Given the description of an element on the screen output the (x, y) to click on. 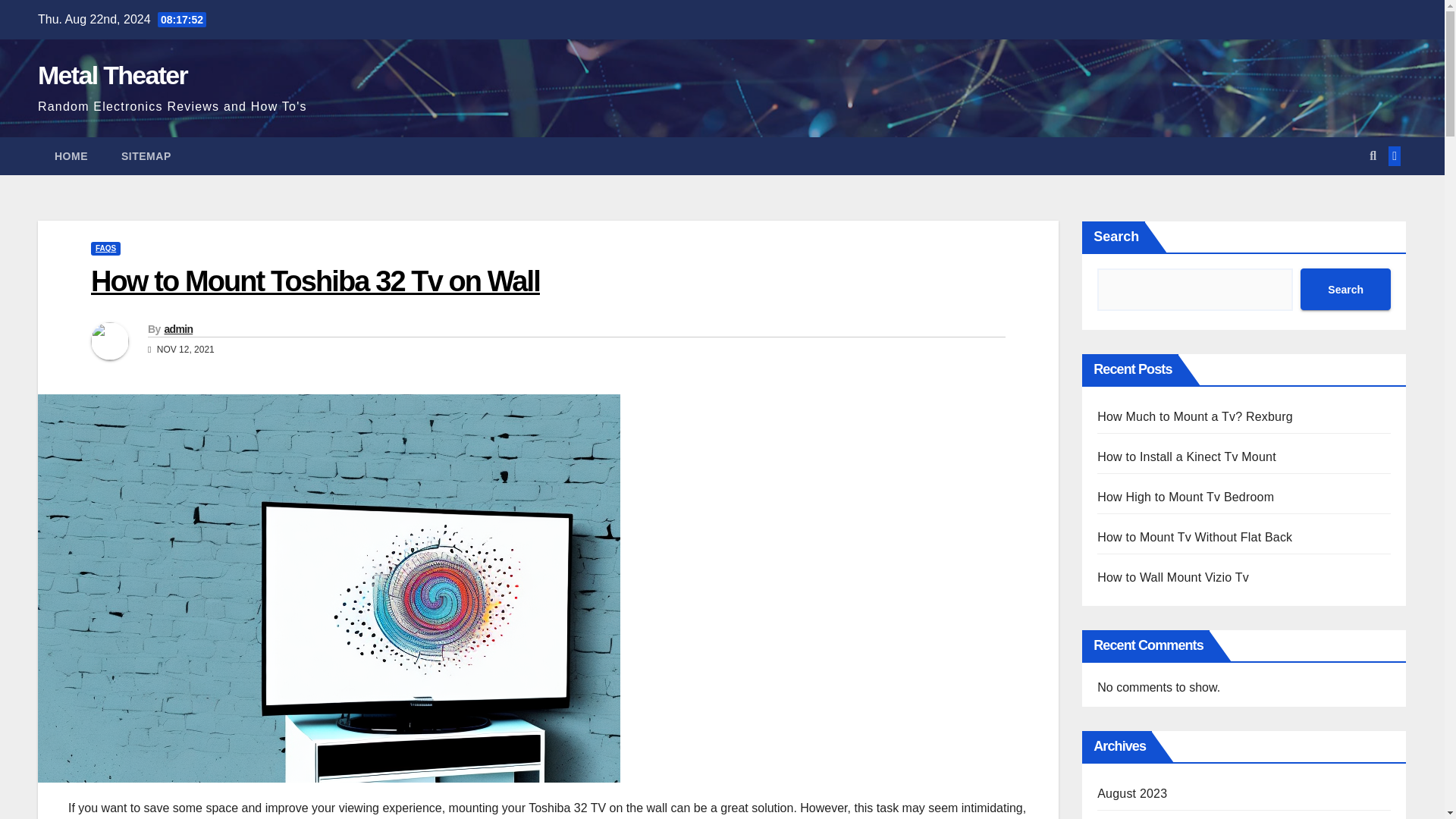
FAQS (105, 248)
Metal Theater (112, 74)
admin (177, 328)
How to Mount Toshiba 32 Tv on Wall (315, 281)
SITEMAP (145, 156)
HOME (70, 156)
Permalink to: How to Mount Toshiba 32 Tv on Wall (315, 281)
Home (70, 156)
